Given the description of an element on the screen output the (x, y) to click on. 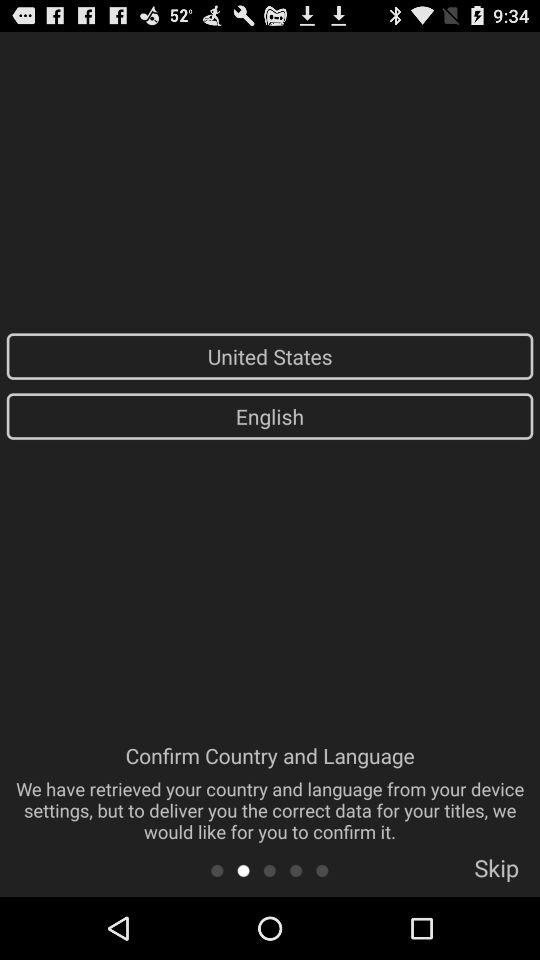
press the icon below the confirm country and icon (216, 870)
